Given the description of an element on the screen output the (x, y) to click on. 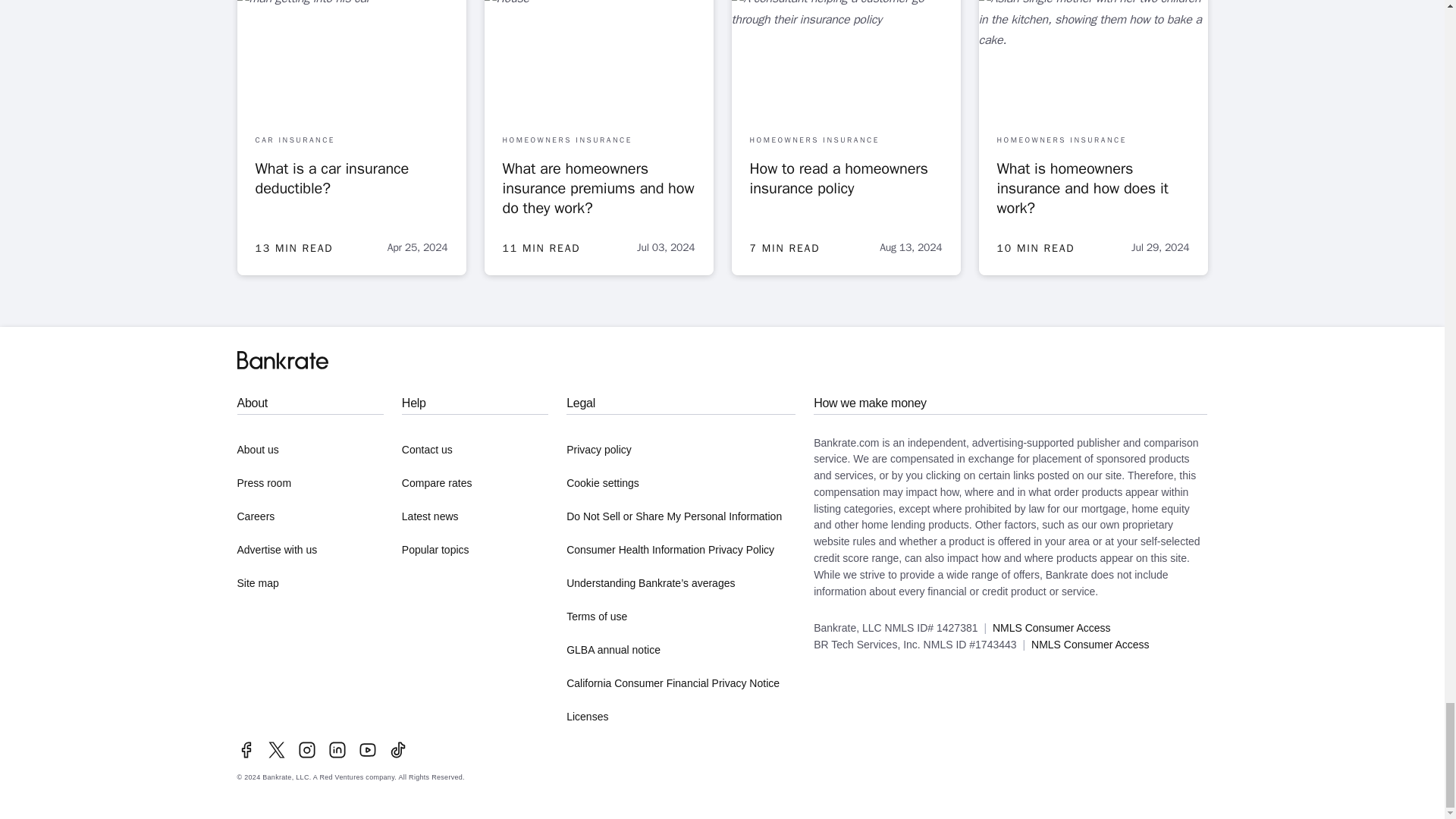
Instagram logo (306, 750)
Bankrate (281, 360)
Twitter logo (275, 750)
Facebook logo (244, 750)
YouTube logo (366, 750)
LinkedIn logo (336, 750)
TikTok logo (397, 750)
